Given the description of an element on the screen output the (x, y) to click on. 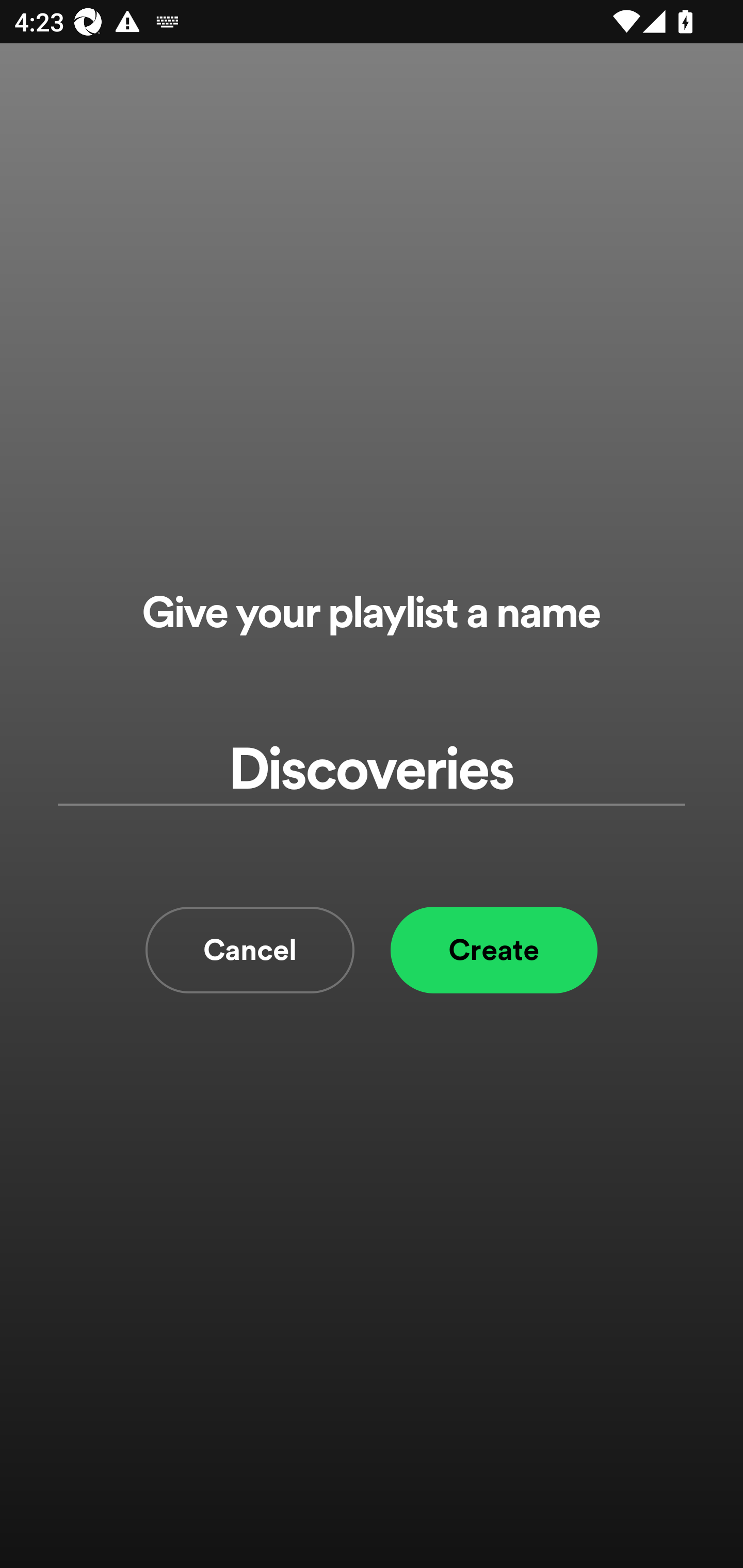
Discoveries Add a playlist name (371, 769)
Cancel (249, 950)
Create (493, 950)
